Given the description of an element on the screen output the (x, y) to click on. 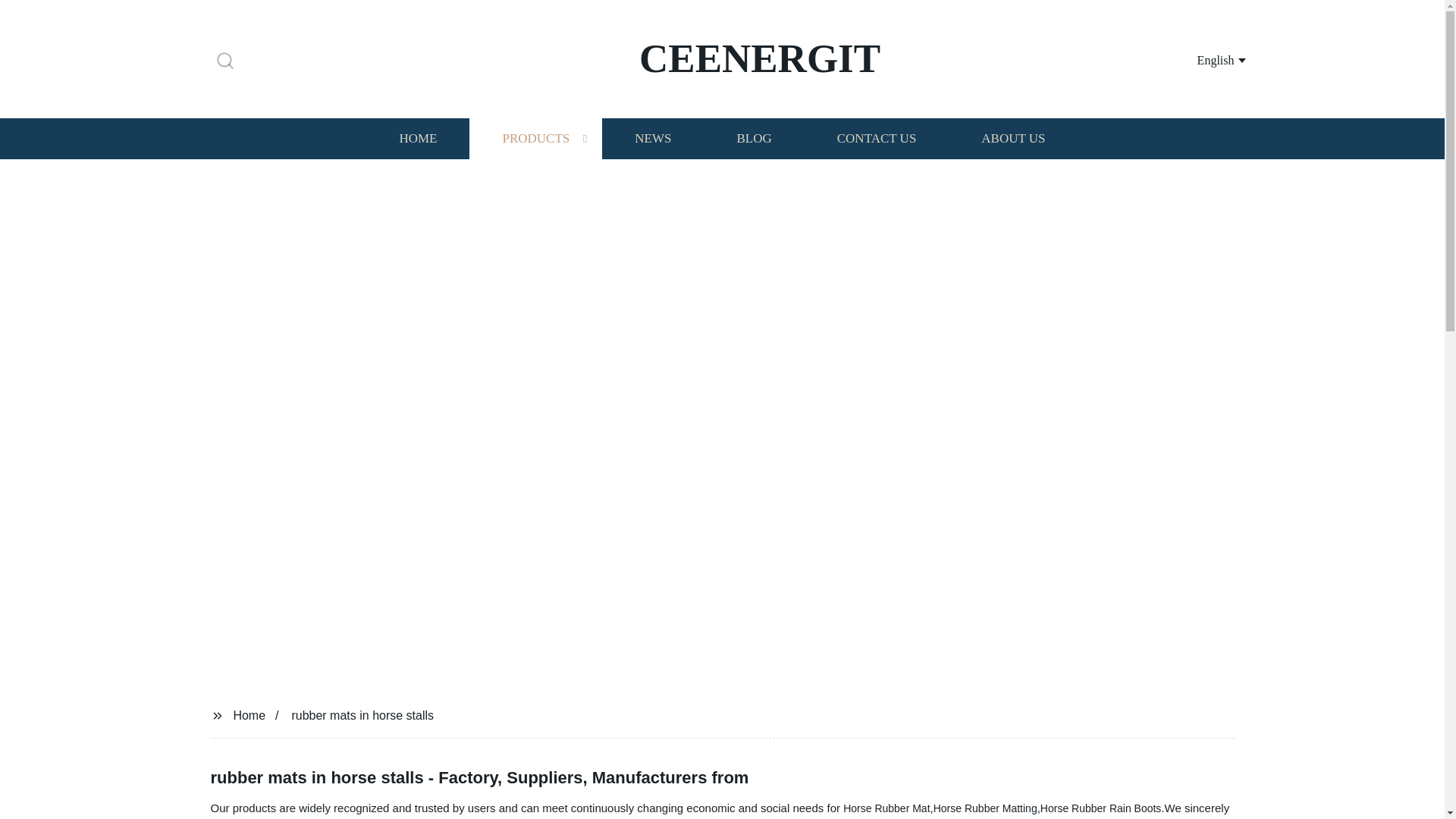
Horse Rubber Mat (886, 808)
HOME (417, 137)
ABOUT US (1013, 137)
Home (248, 714)
English (1203, 59)
BLOG (753, 137)
CONTACT US (877, 137)
Horse Rubber Mat (886, 808)
Horse Rubber Rain Boots (1101, 808)
Horse Rubber Matting (984, 808)
